Given the description of an element on the screen output the (x, y) to click on. 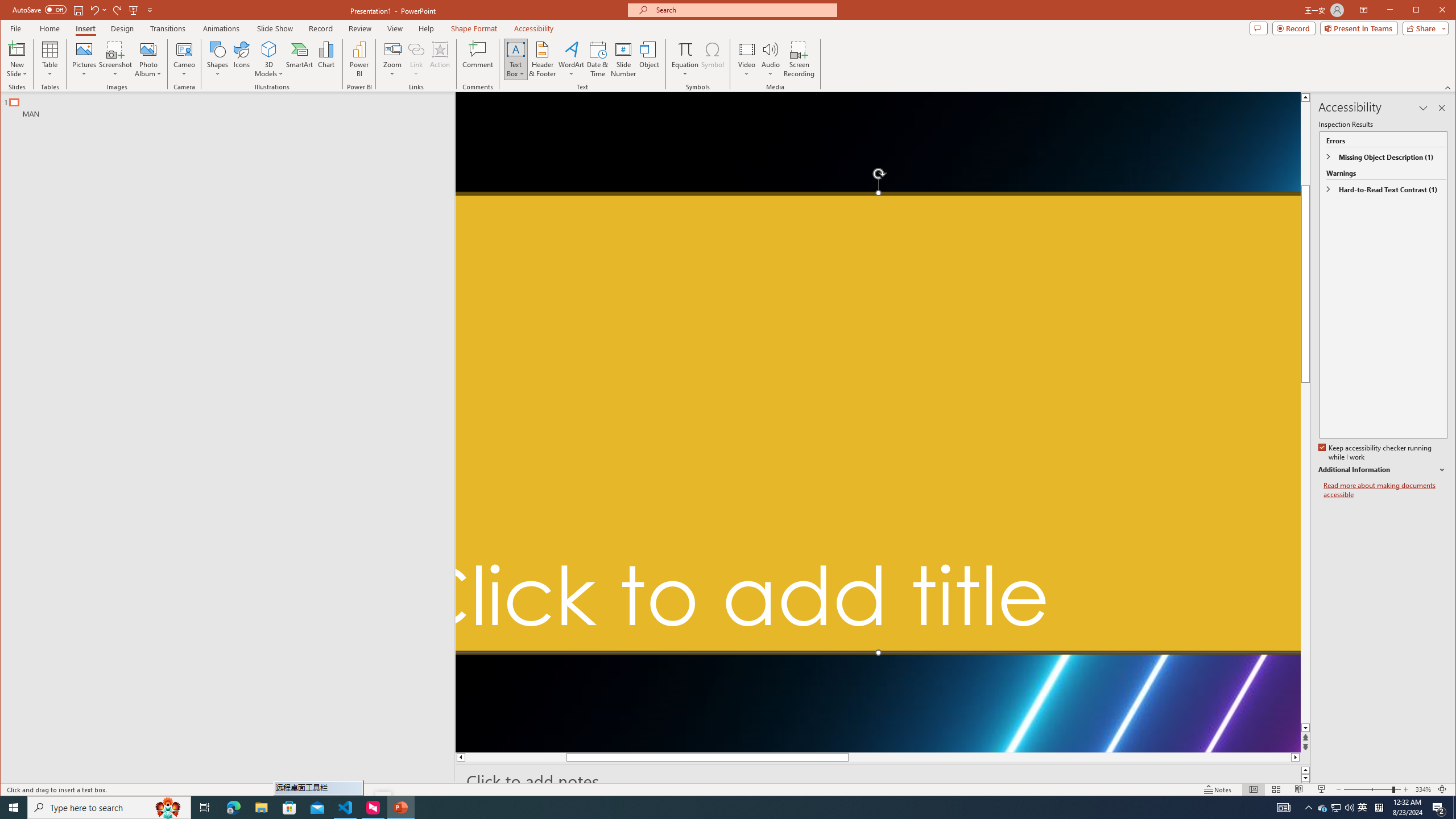
Zoom 334% (1422, 789)
Screenshot (115, 59)
Slide Number (623, 59)
New Photo Album... (148, 48)
Icons (241, 59)
